Given the description of an element on the screen output the (x, y) to click on. 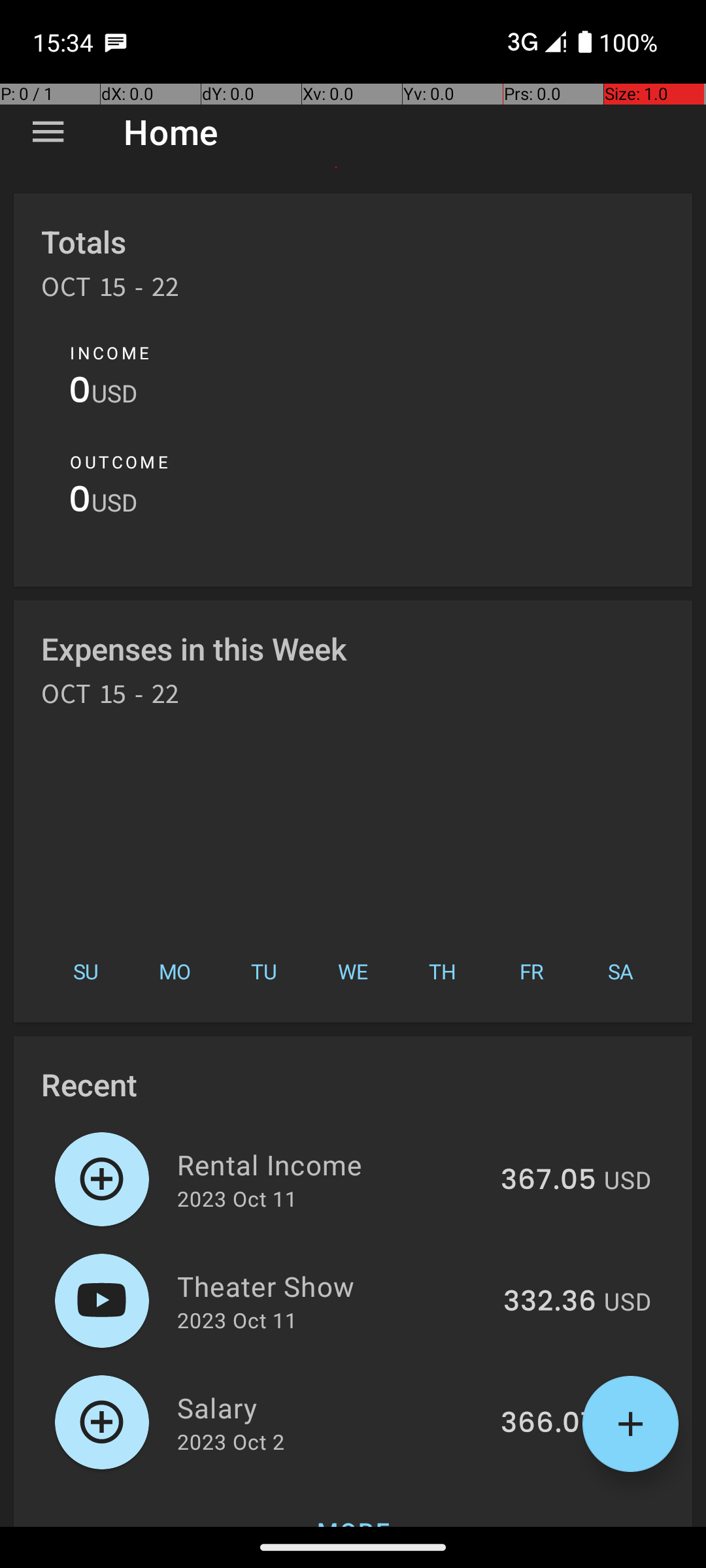
MORE Element type: android.widget.Button (352, 1504)
Rental Income Element type: android.widget.TextView (331, 1164)
367.05 Element type: android.widget.TextView (548, 1180)
Theater Show Element type: android.widget.TextView (332, 1285)
332.36 Element type: android.widget.TextView (549, 1301)
Salary Element type: android.widget.TextView (331, 1407)
2023 Oct 2 Element type: android.widget.TextView (230, 1441)
366.07 Element type: android.widget.TextView (548, 1423)
